Given the description of an element on the screen output the (x, y) to click on. 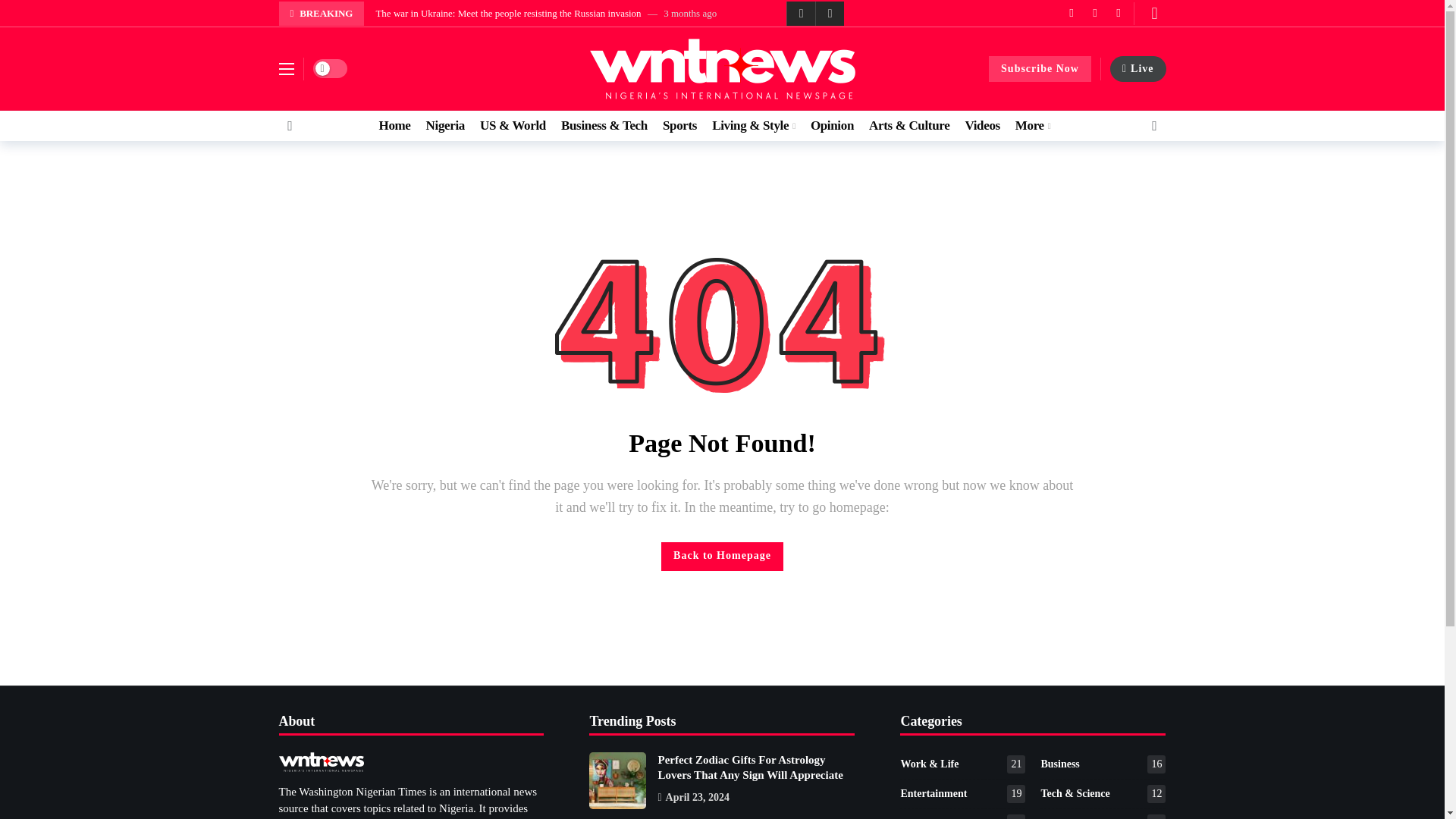
Home (394, 125)
Videos (980, 125)
Opinion (831, 125)
Nigeria (445, 125)
Sports (679, 125)
More (1032, 125)
Live (1137, 68)
Subscribe Now (1039, 68)
